Given the description of an element on the screen output the (x, y) to click on. 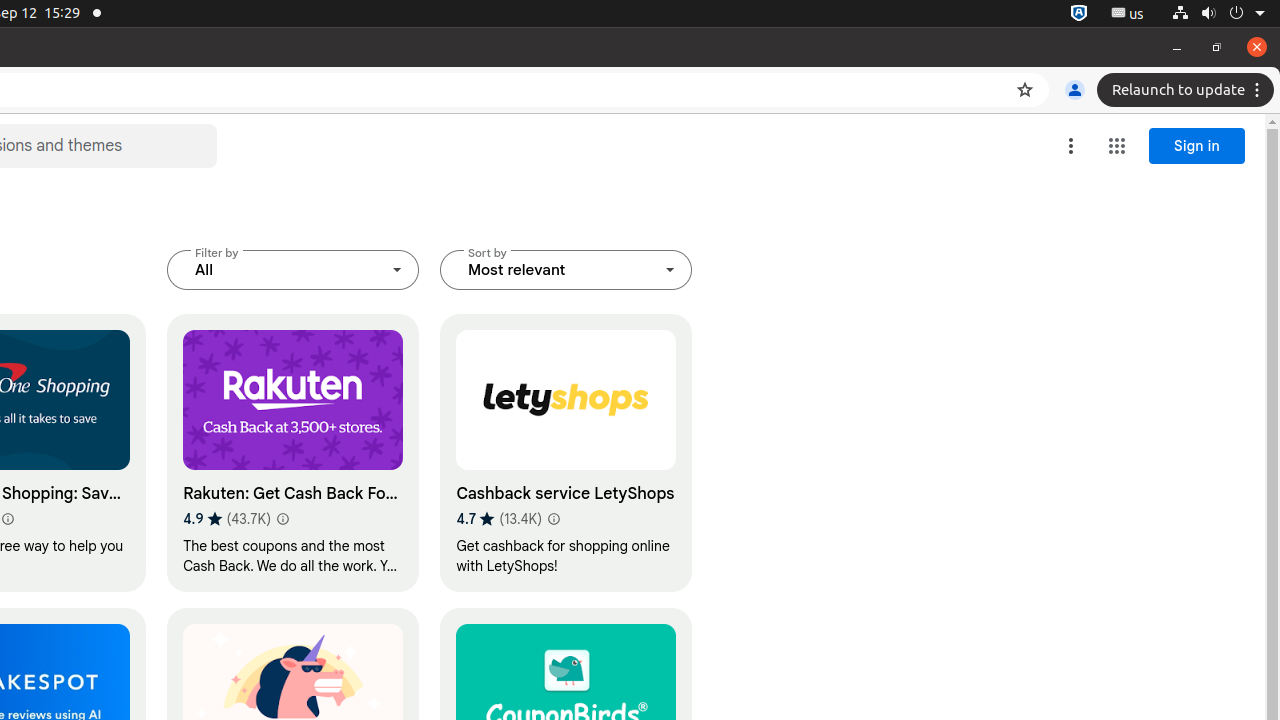
Rakuten: Get Cash Back For Shopping Element type: link (293, 453)
Relaunch to update Element type: push-button (1188, 90)
Google apps Element type: push-button (1117, 145)
More options menu Element type: push-button (1071, 145)
Cashback service LetyShops Element type: link (566, 453)
